Given the description of an element on the screen output the (x, y) to click on. 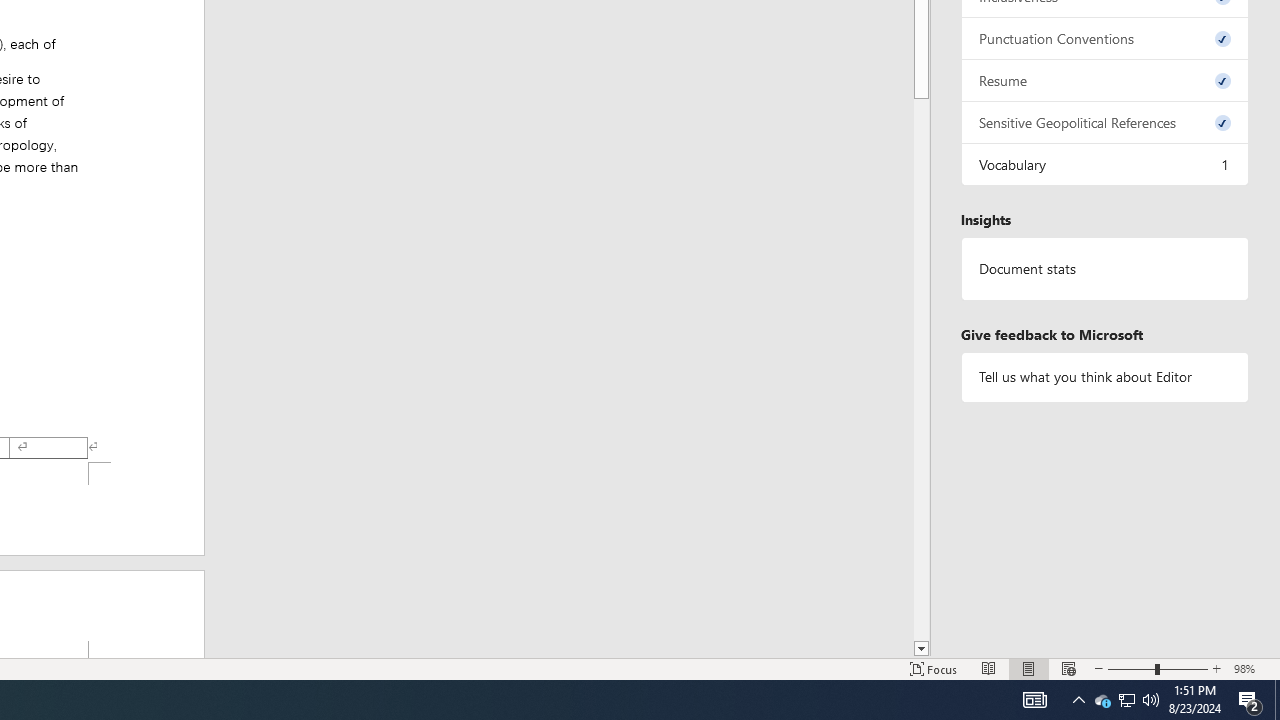
Vocabulary, 1 issue. Press space or enter to review items. (1105, 164)
Resume, 0 issues. Press space or enter to review items. (1105, 79)
Tell us what you think about Editor (1105, 376)
Document statistics (1105, 269)
